Given the description of an element on the screen output the (x, y) to click on. 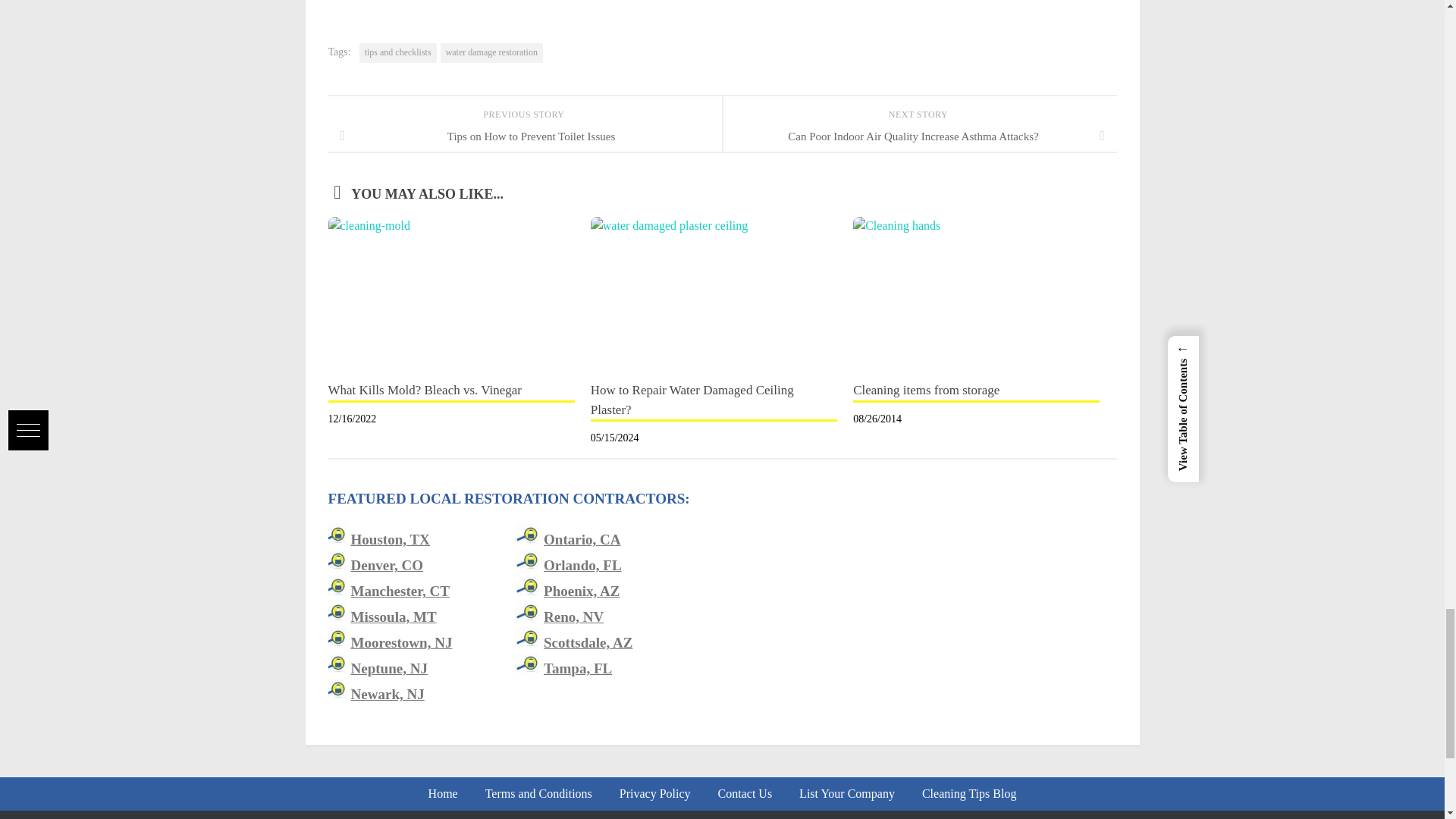
Water Damage and Flood Cleanup - Denver, CO (386, 565)
Water Damage and Flood Cleanup - Ontario, CA (582, 539)
Water Damage and Flood Cleanup - Neptune, NJ (389, 668)
Water Damage and Flood Cleanup - Houston, TX (389, 539)
Water Damage and Flood Cleanup - Moorestown, NJ (400, 642)
Water Damage and Flood Cleanup - Manchester, CT (399, 590)
Water Damage and Flood Cleanup - Newark, NJ (386, 693)
